Given the description of an element on the screen output the (x, y) to click on. 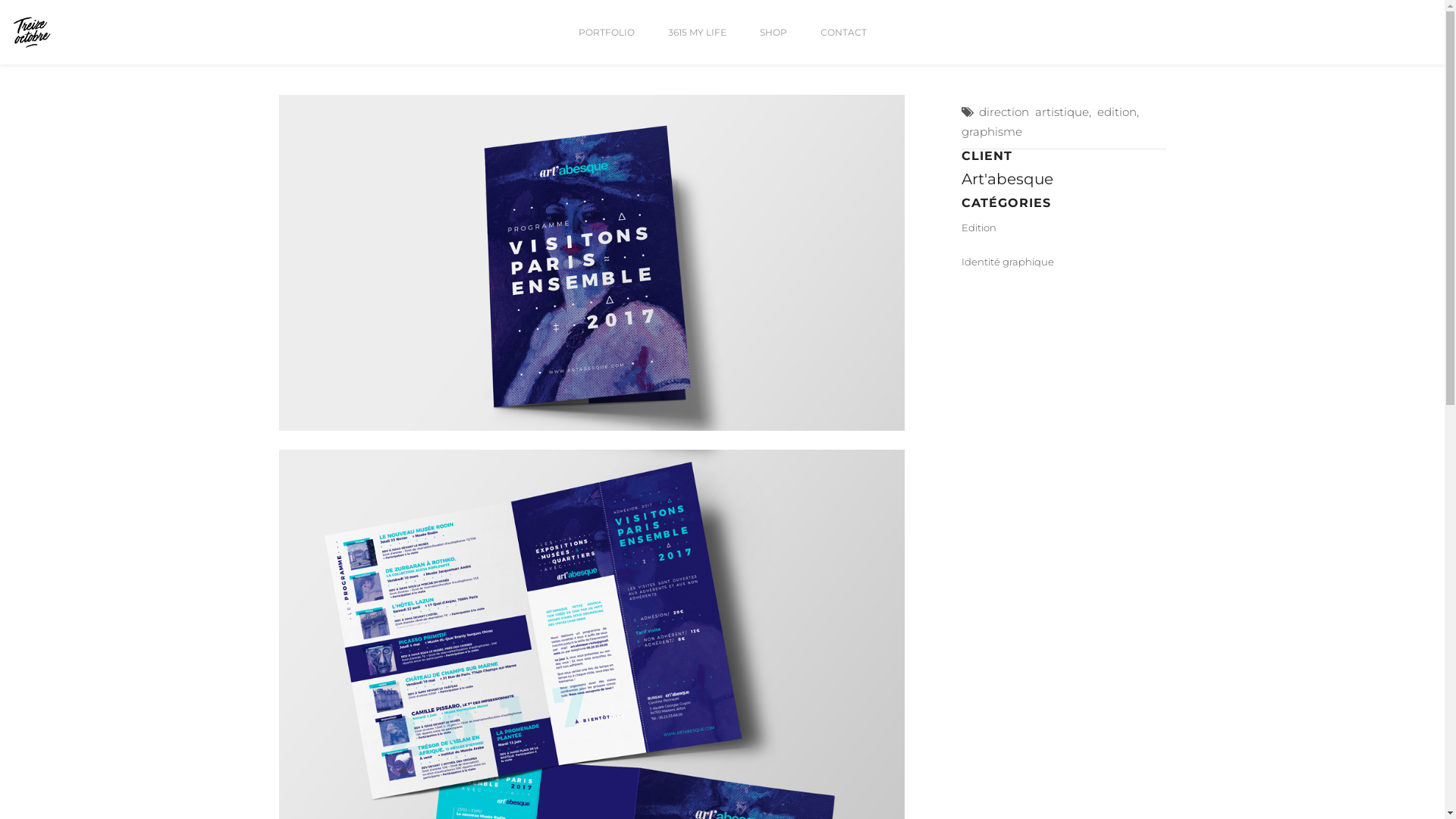
edition Element type: text (1115, 111)
graphisme Element type: text (991, 131)
direction artistique Element type: text (1033, 111)
3615 MY LIFE Element type: text (696, 43)
PORTFOLIO Element type: text (605, 43)
CONTACT Element type: text (843, 43)
SHOP Element type: text (773, 43)
Edition Element type: text (1063, 233)
